Given the description of an element on the screen output the (x, y) to click on. 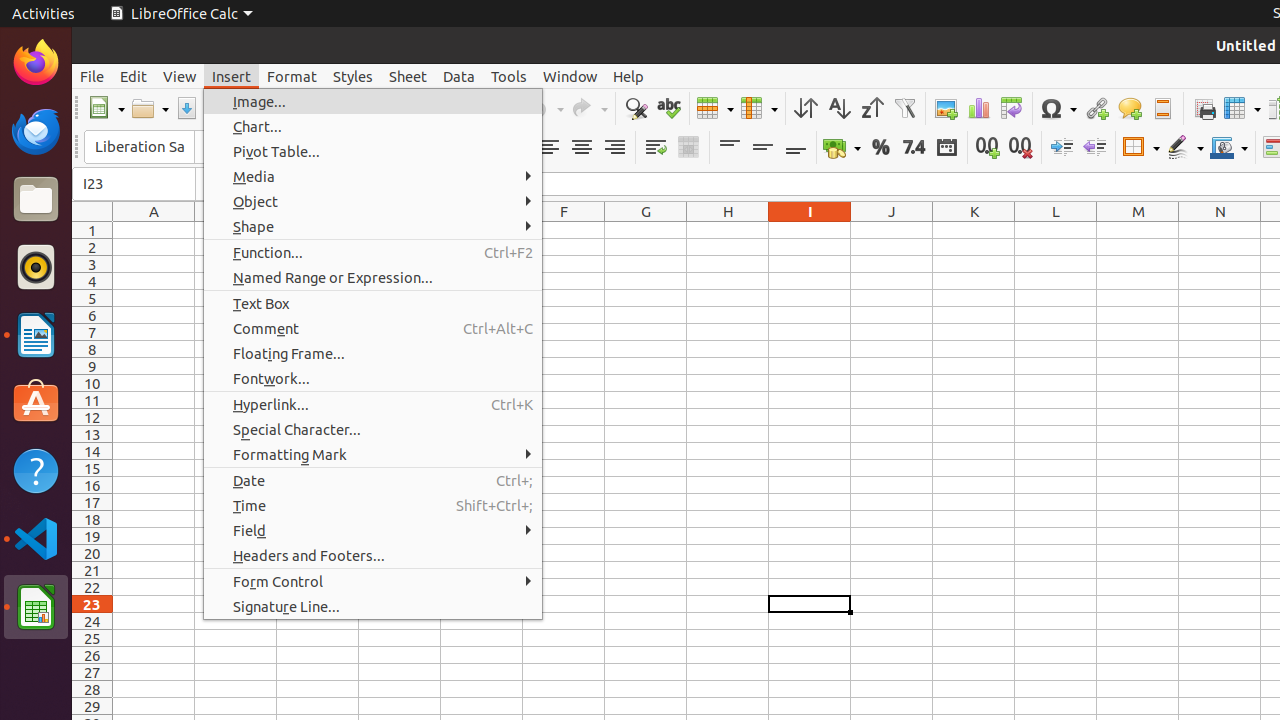
Percent Element type: push-button (880, 147)
Open Element type: push-button (150, 108)
Merge and Center Cells Element type: push-button (688, 147)
Form Control Element type: menu (373, 581)
Named Range or Expression... Element type: menu-item (373, 277)
